Given the description of an element on the screen output the (x, y) to click on. 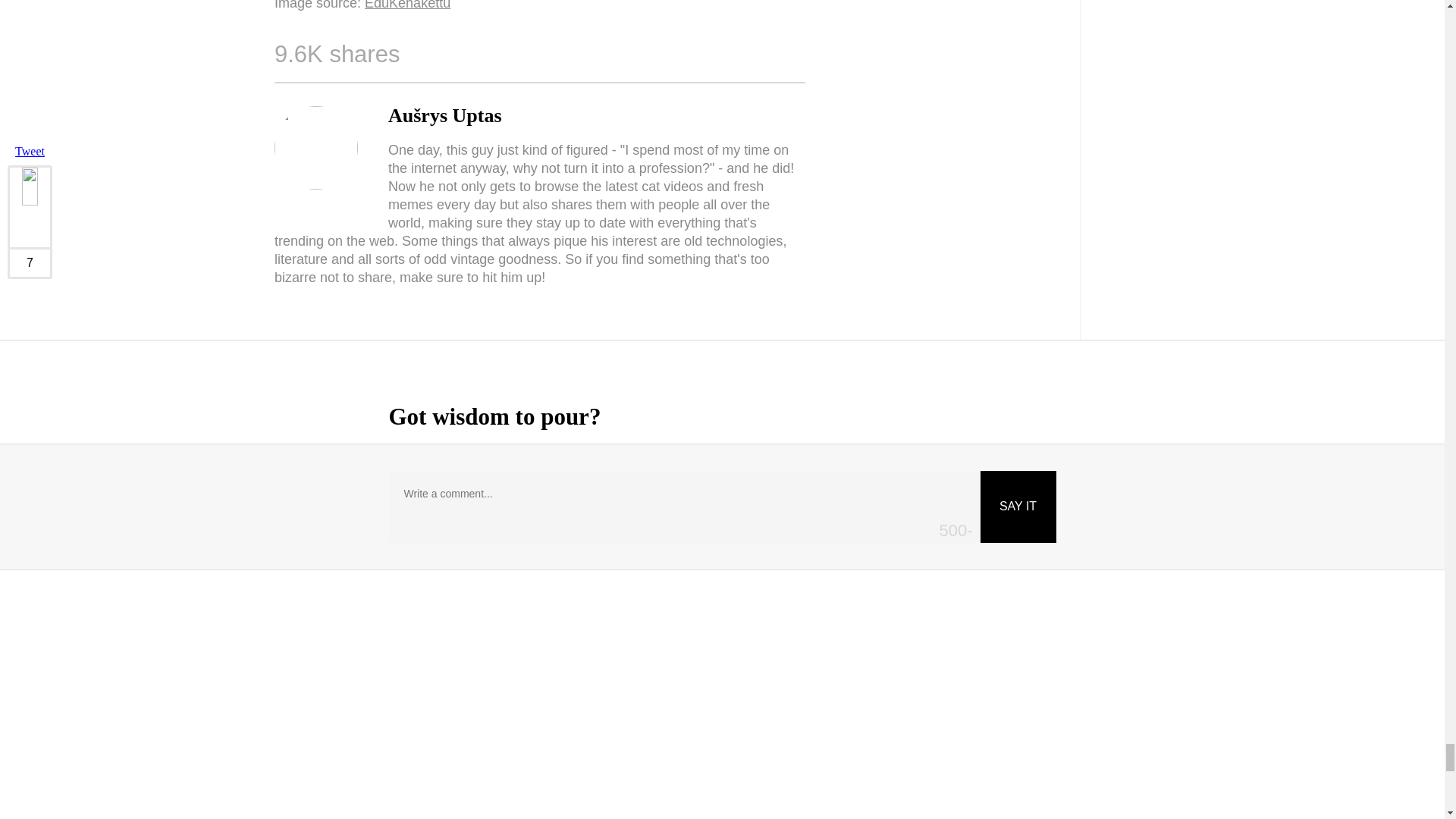
SAY IT (1017, 506)
